Given the description of an element on the screen output the (x, y) to click on. 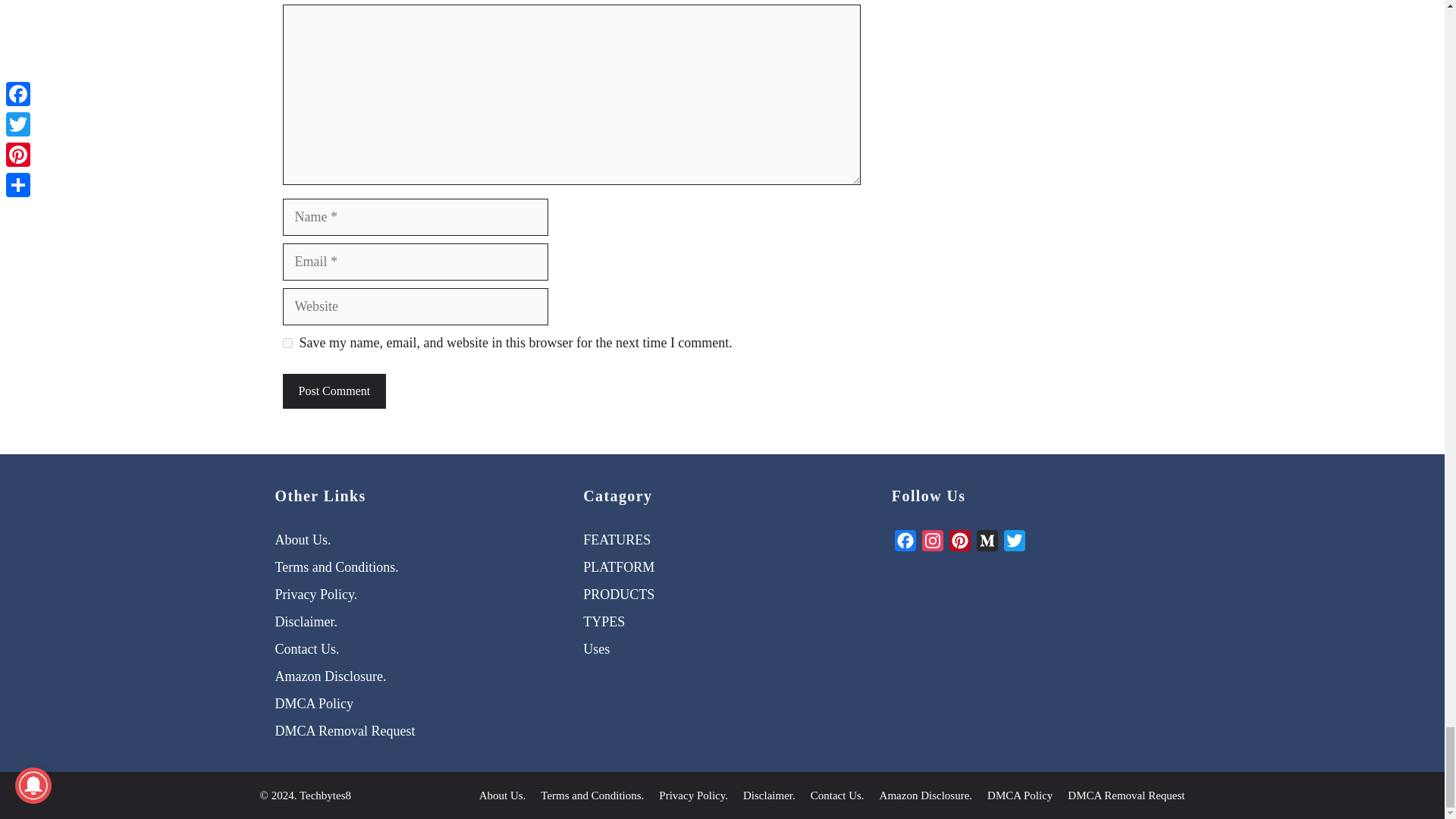
yes (287, 343)
Post Comment (333, 390)
Post Comment (333, 390)
